Given the description of an element on the screen output the (x, y) to click on. 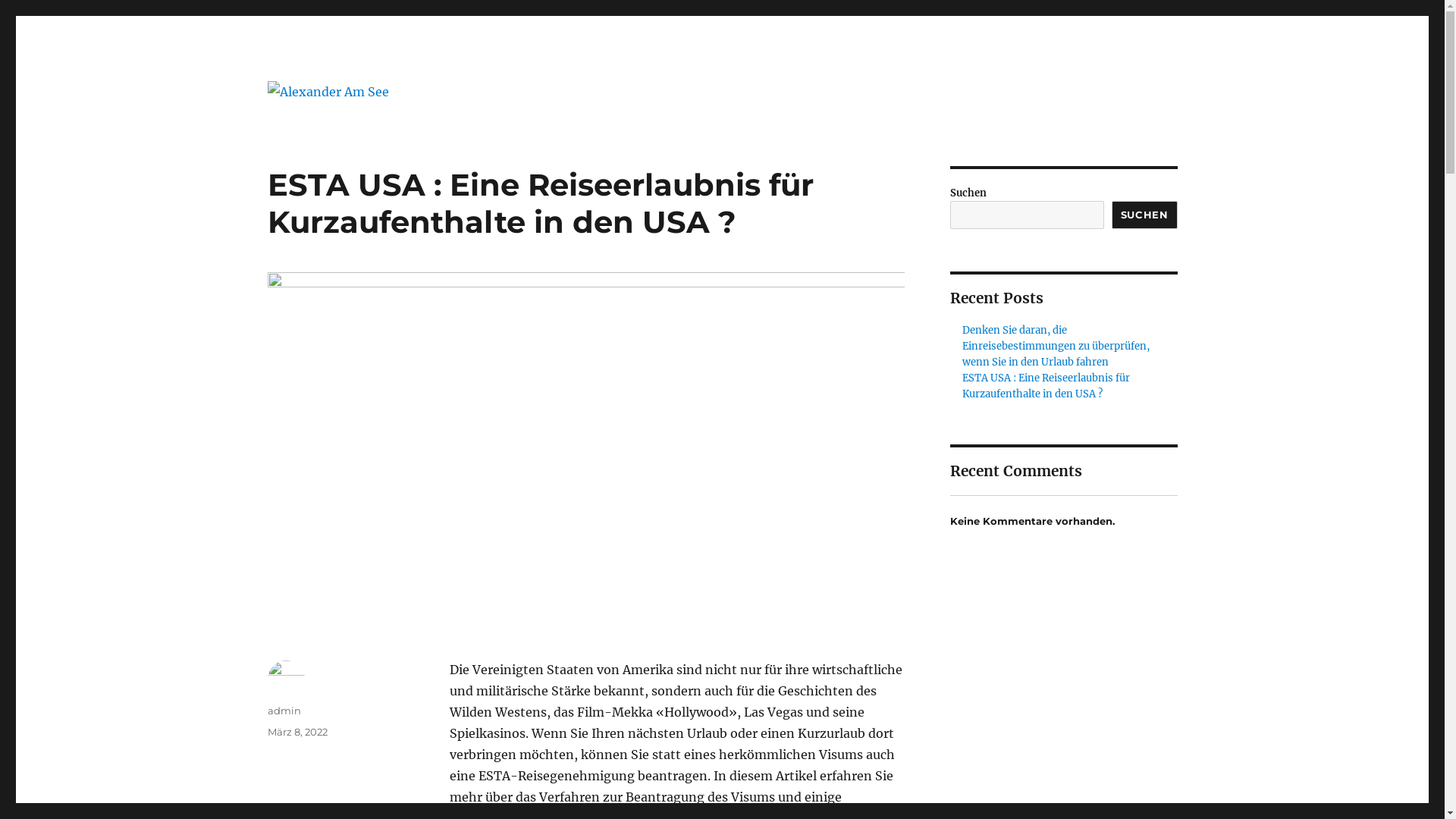
SUCHEN Element type: text (1144, 214)
Alexander Am See Element type: text (368, 125)
admin Element type: text (283, 710)
